Given the description of an element on the screen output the (x, y) to click on. 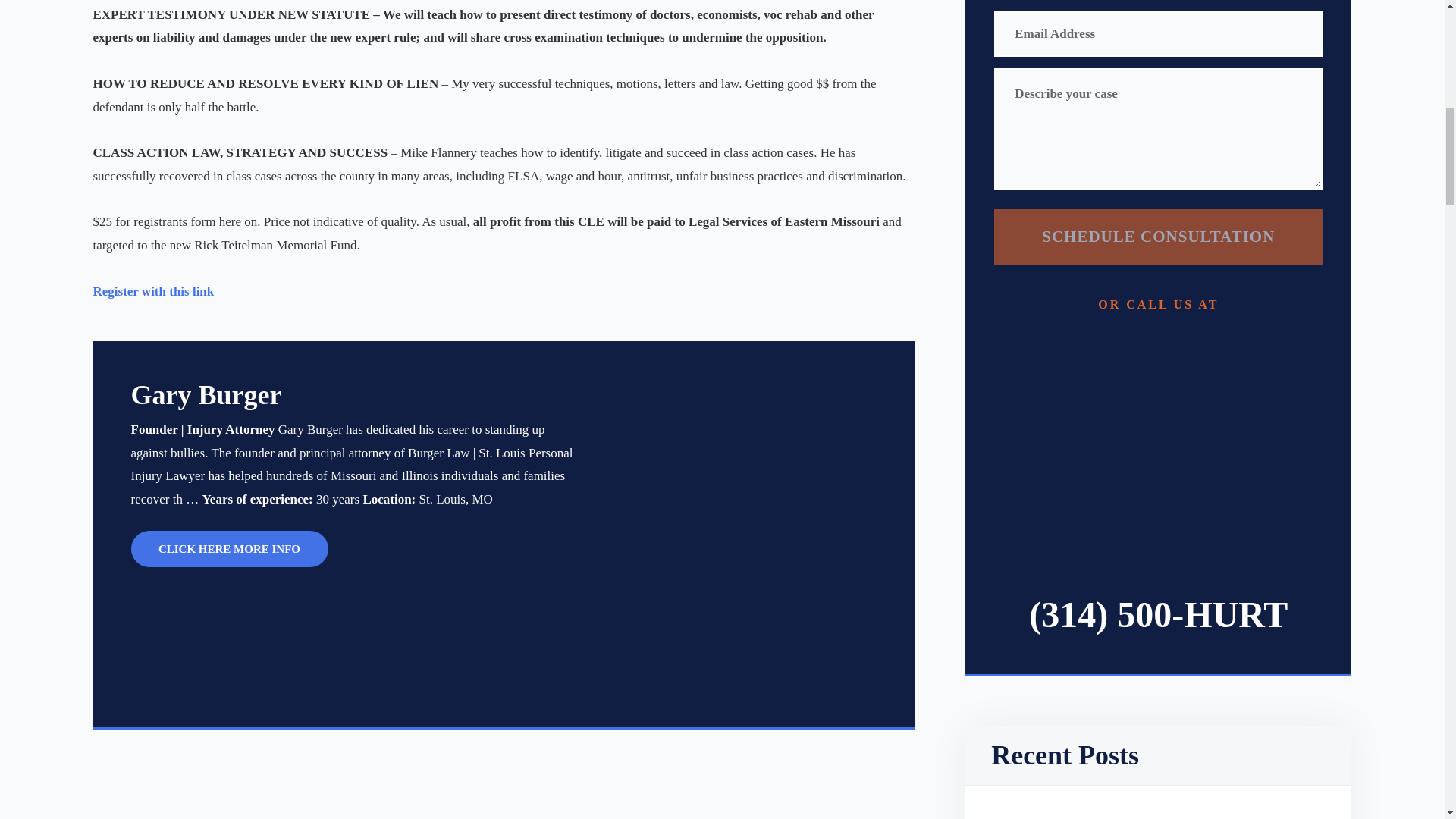
Schedule Consultation (1158, 236)
